Given the description of an element on the screen output the (x, y) to click on. 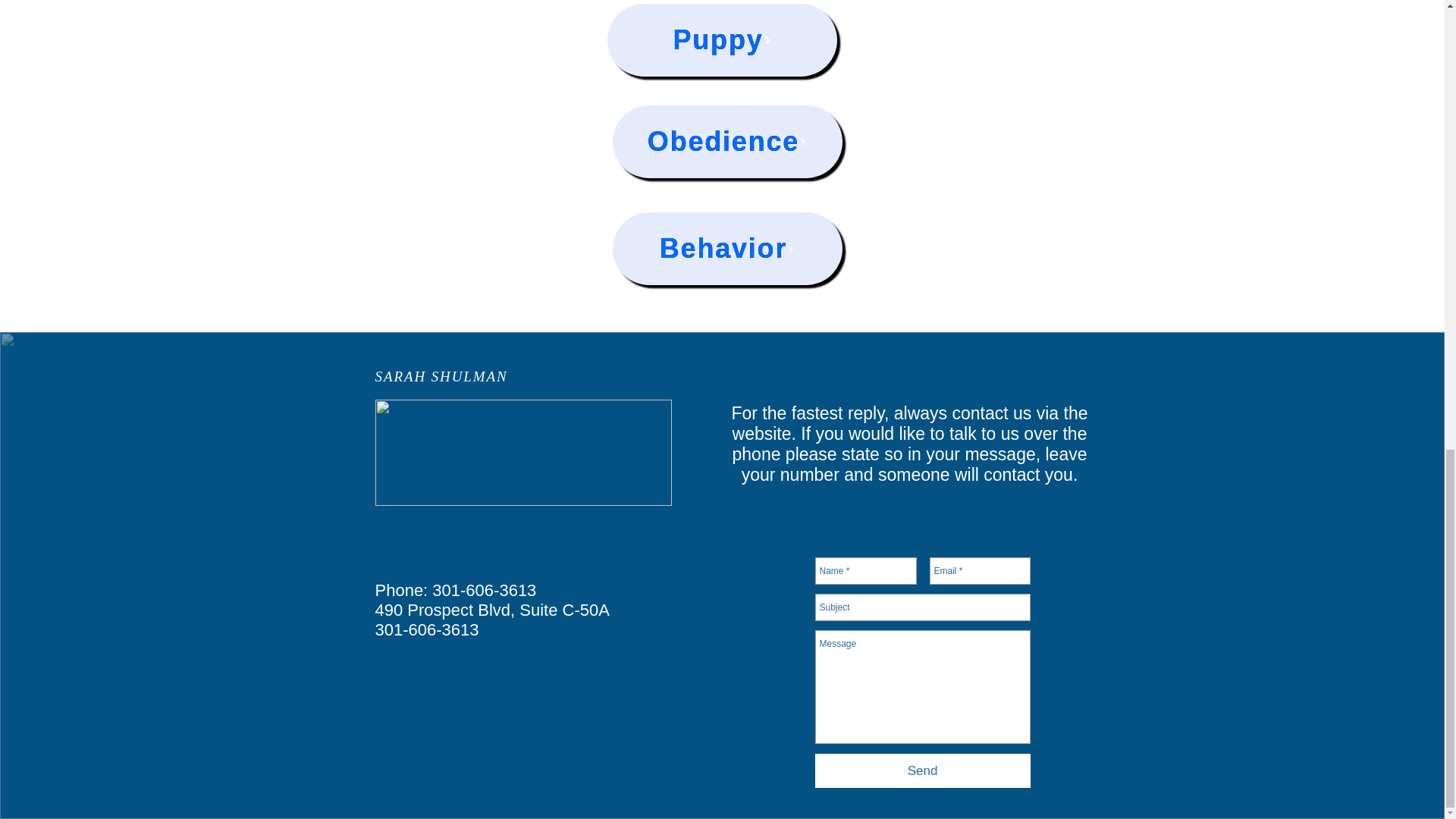
Puppy (721, 40)
Obedience (727, 141)
Behavior (727, 248)
Send (921, 770)
